Given the description of an element on the screen output the (x, y) to click on. 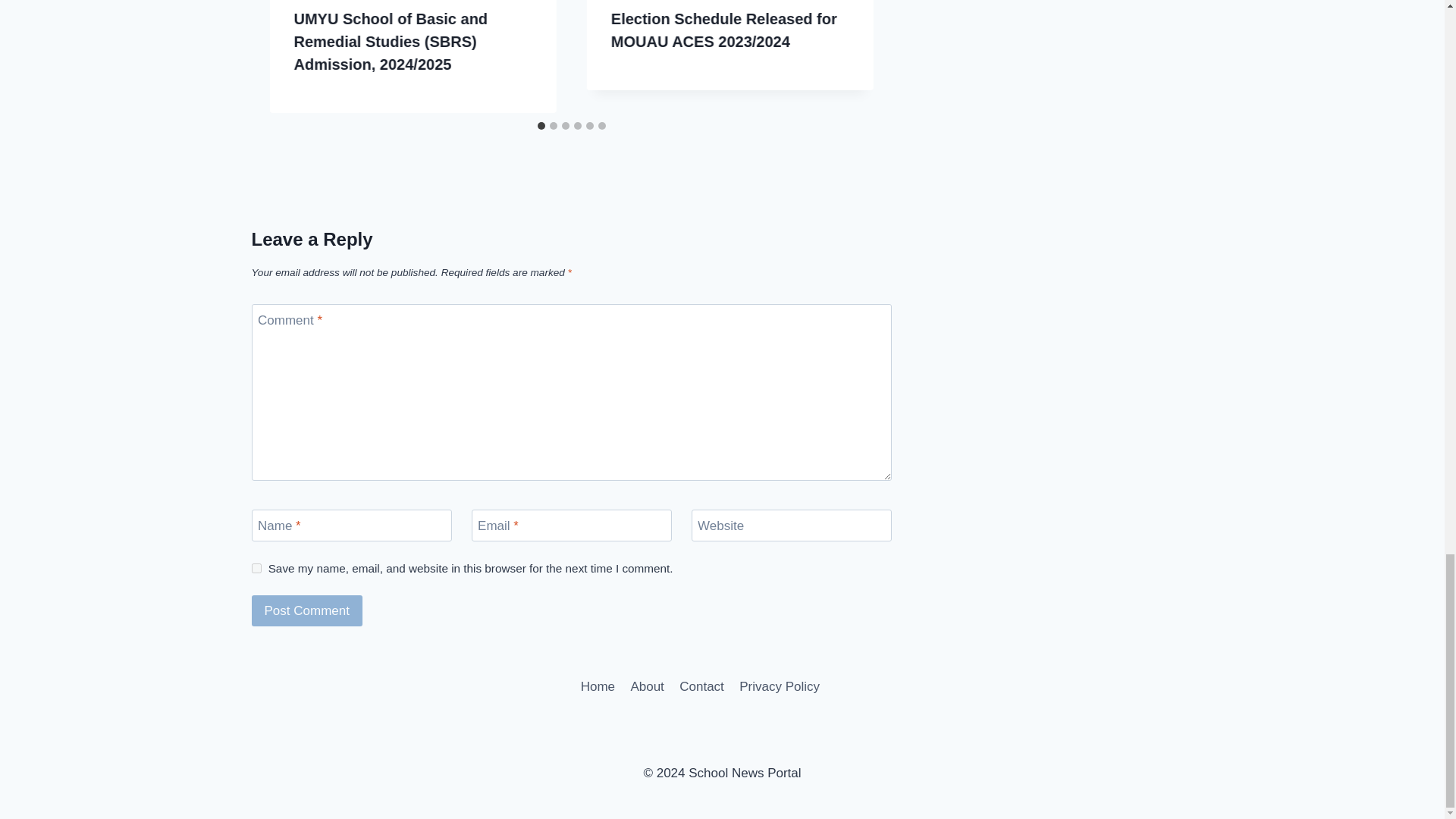
Post Comment (306, 610)
yes (256, 568)
